Given the description of an element on the screen output the (x, y) to click on. 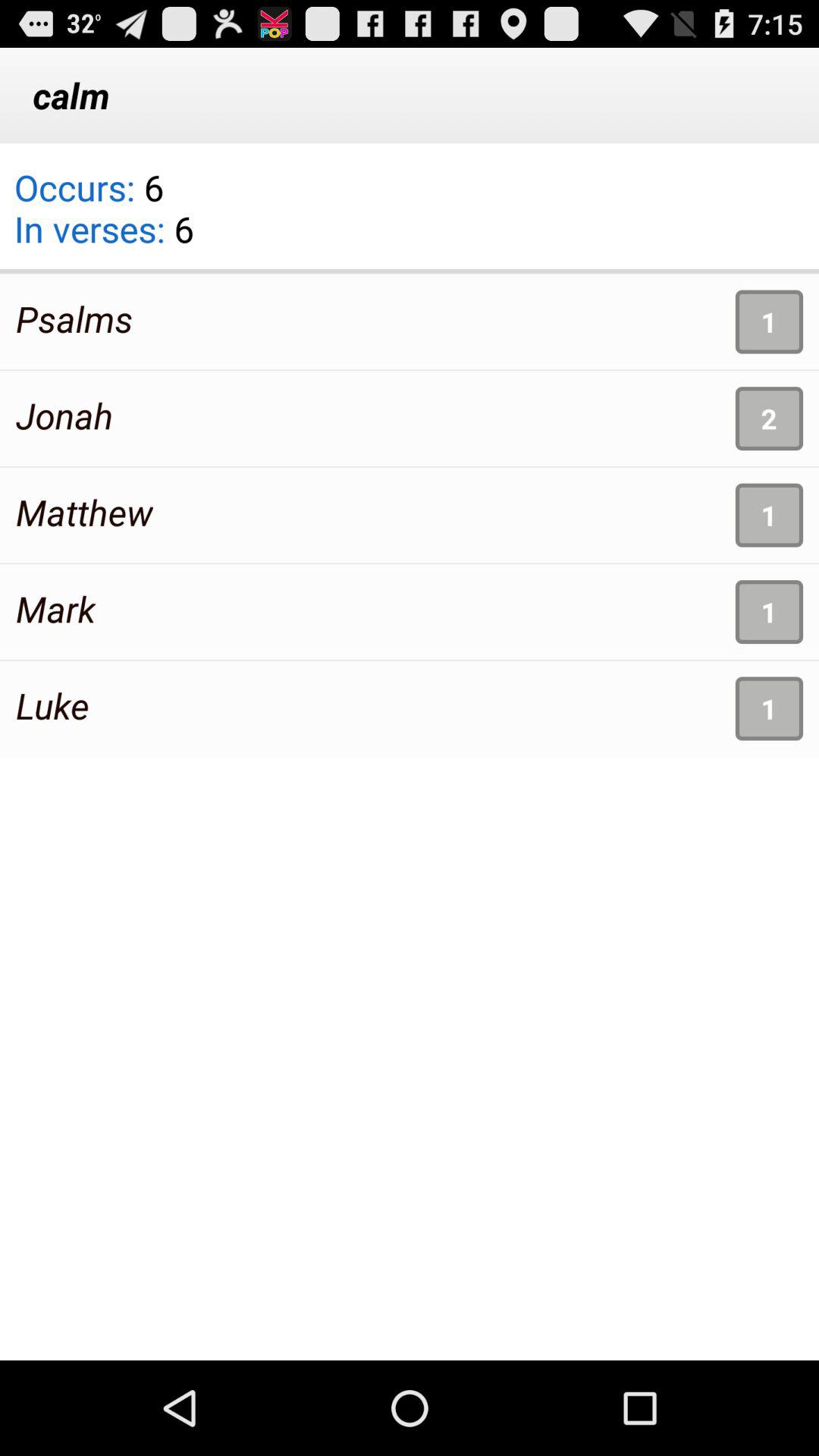
open app above 1 item (409, 271)
